Given the description of an element on the screen output the (x, y) to click on. 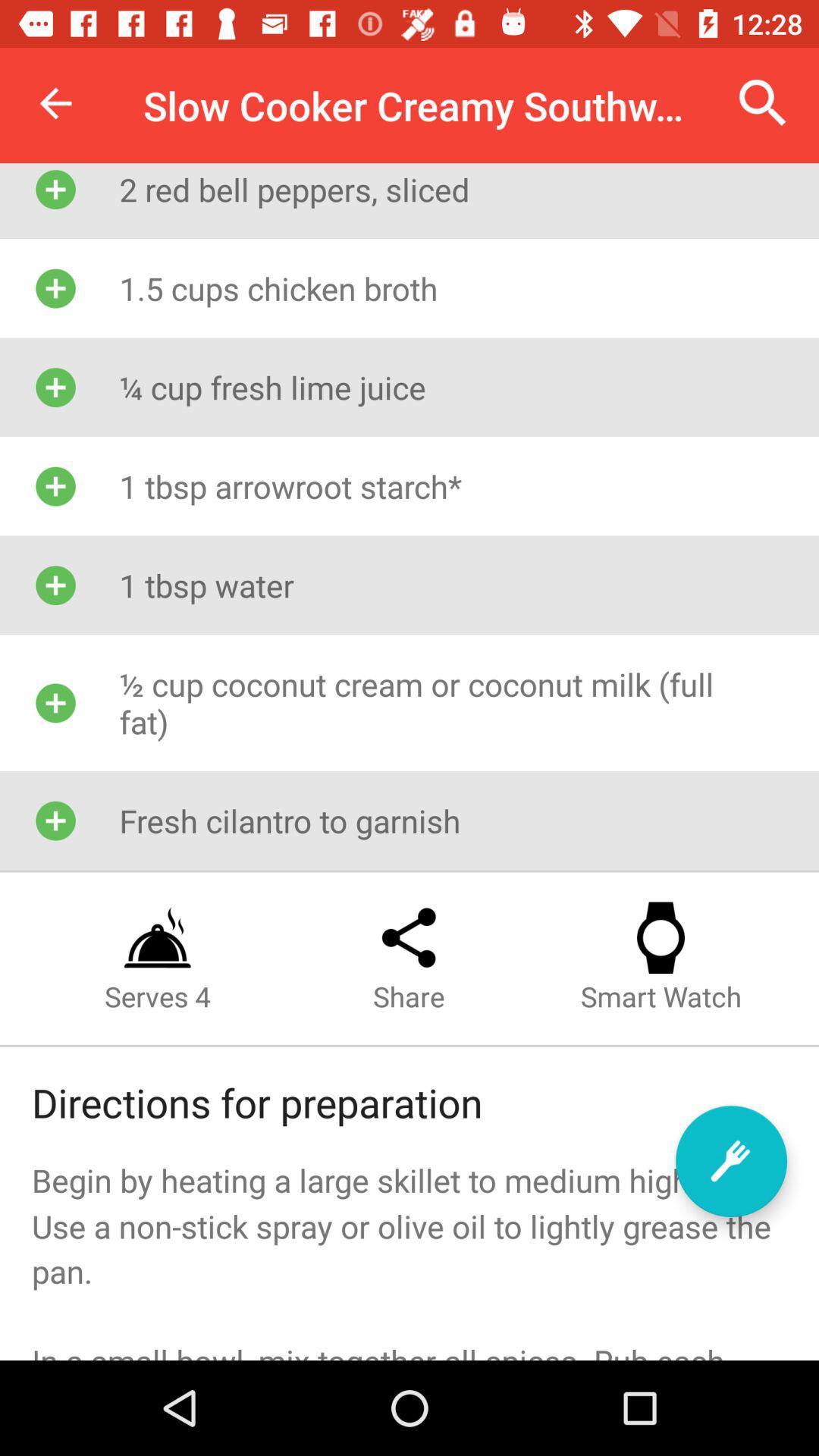
choose the item to the left of slow cooker creamy (55, 103)
